Given the description of an element on the screen output the (x, y) to click on. 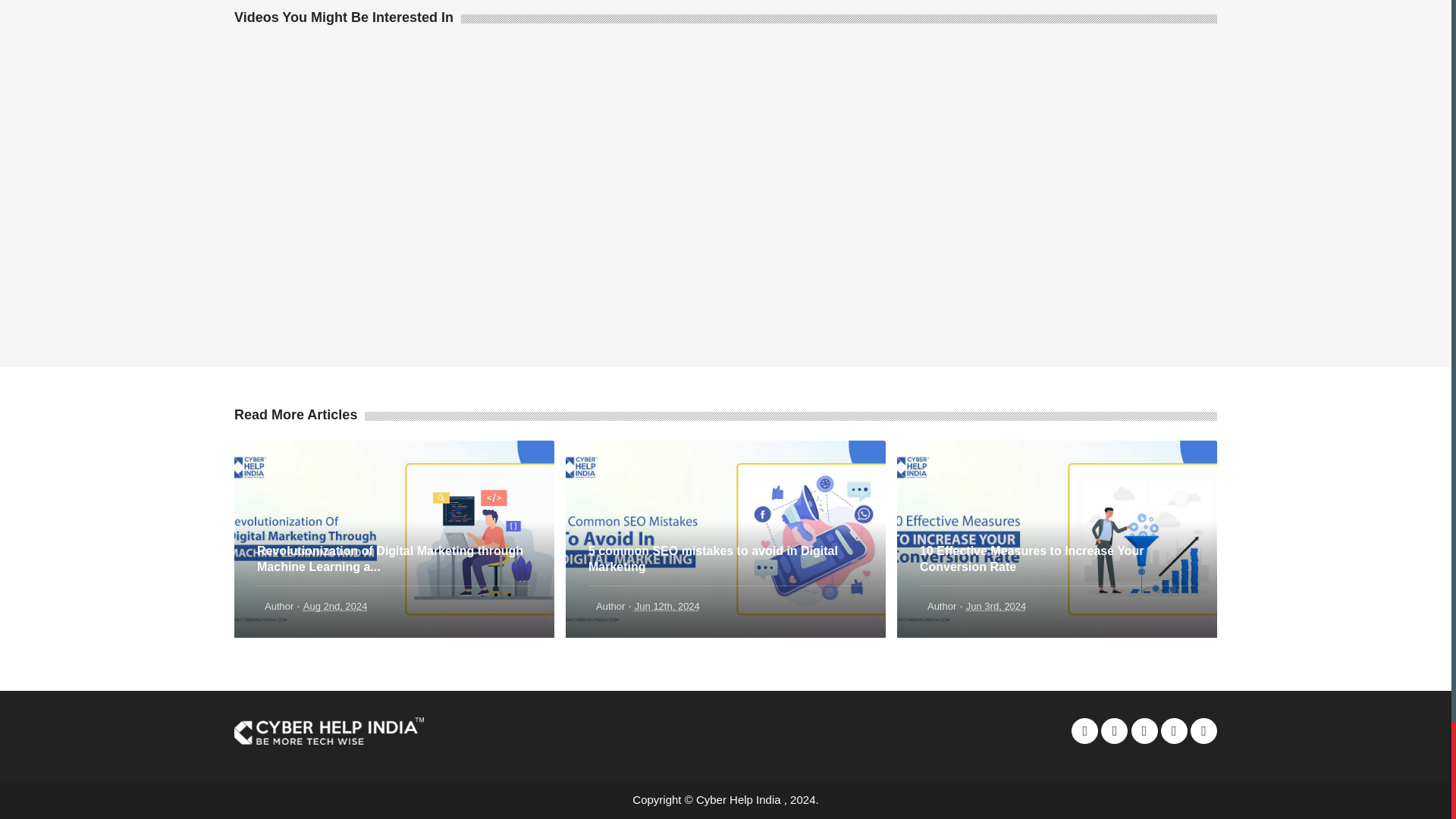
10 Effective Measures to Increase Your Conversion Rate (941, 605)
Author (941, 605)
Author (609, 605)
Aug 2nd, 2024 (335, 605)
Jun 12th, 2024 (667, 605)
5 common SEO mistakes to avoid in Digital Marketing (609, 605)
Author (279, 605)
Jun 3rd, 2024 (996, 605)
